Given the description of an element on the screen output the (x, y) to click on. 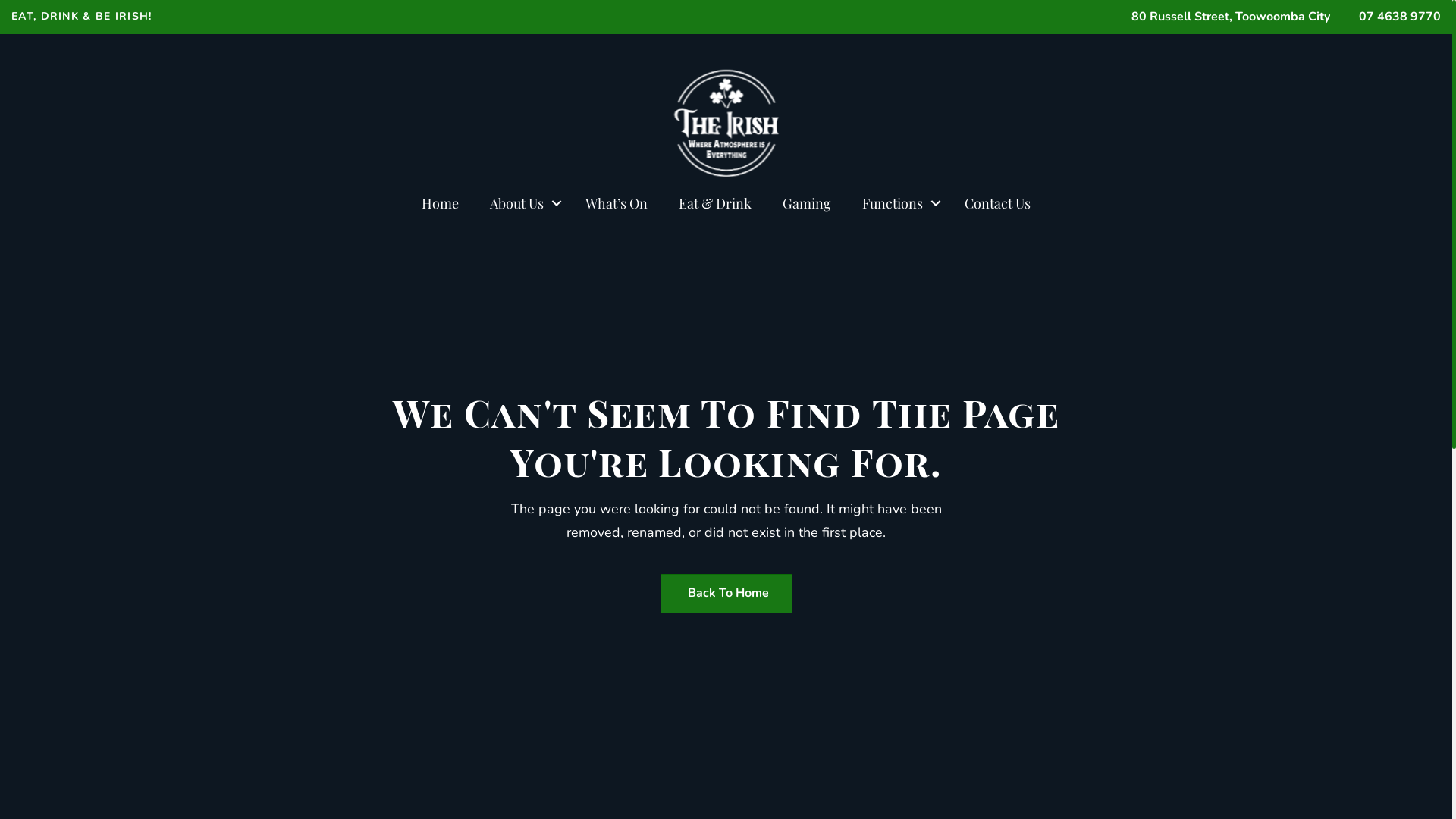
Contact Us Element type: text (997, 202)
80 Russell Street, Toowoomba City Element type: text (1227, 16)
About Us Element type: text (521, 202)
Gaming Element type: text (806, 202)
Functions Element type: text (897, 202)
07 4638 9770 Element type: text (1396, 16)
Home Element type: text (439, 202)
Back To Home Element type: text (725, 593)
Eat & Drink Element type: text (714, 202)
